Given the description of an element on the screen output the (x, y) to click on. 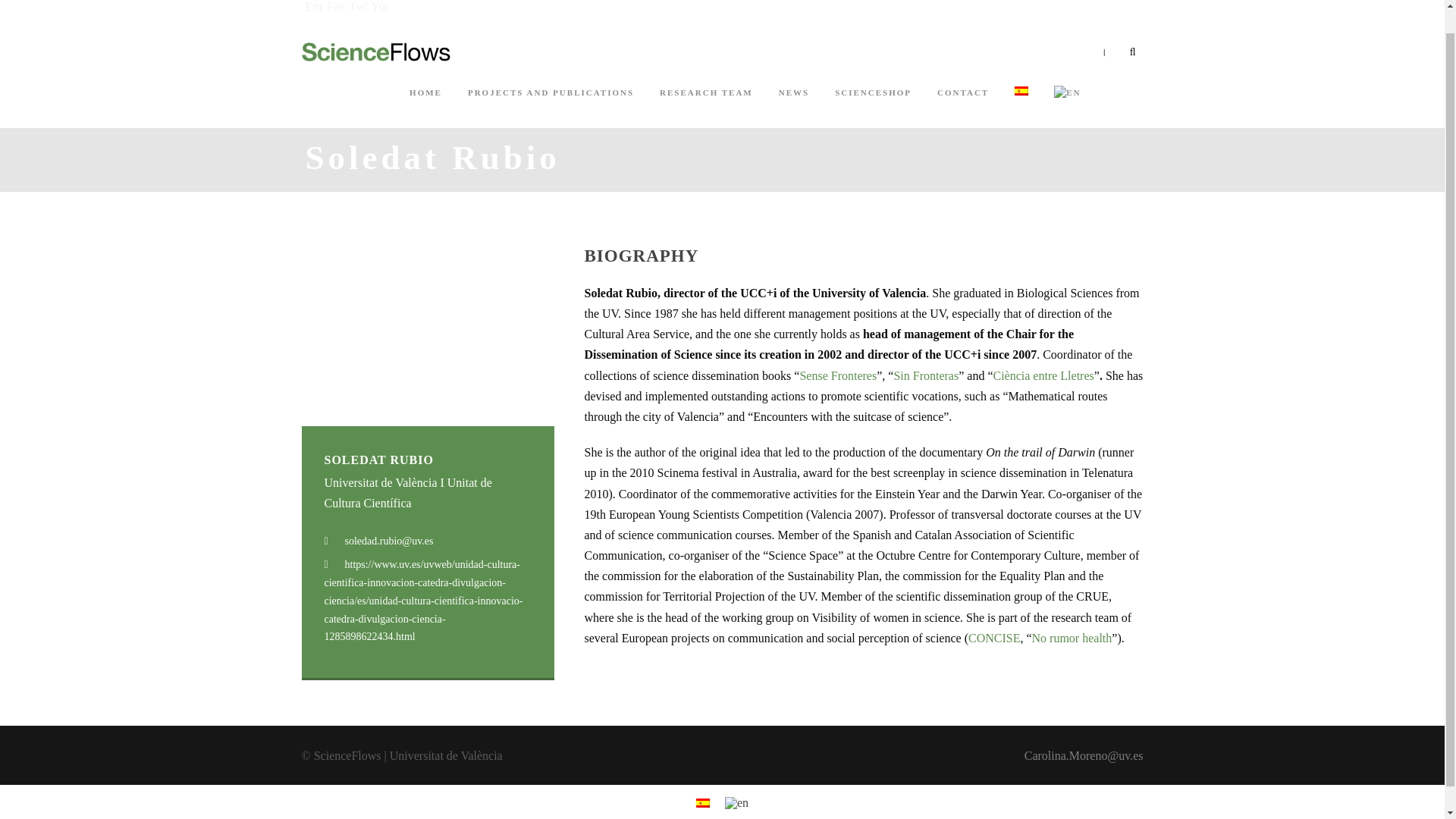
PROJECTS AND PUBLICATIONS (550, 106)
English (1067, 92)
English (736, 802)
